Given the description of an element on the screen output the (x, y) to click on. 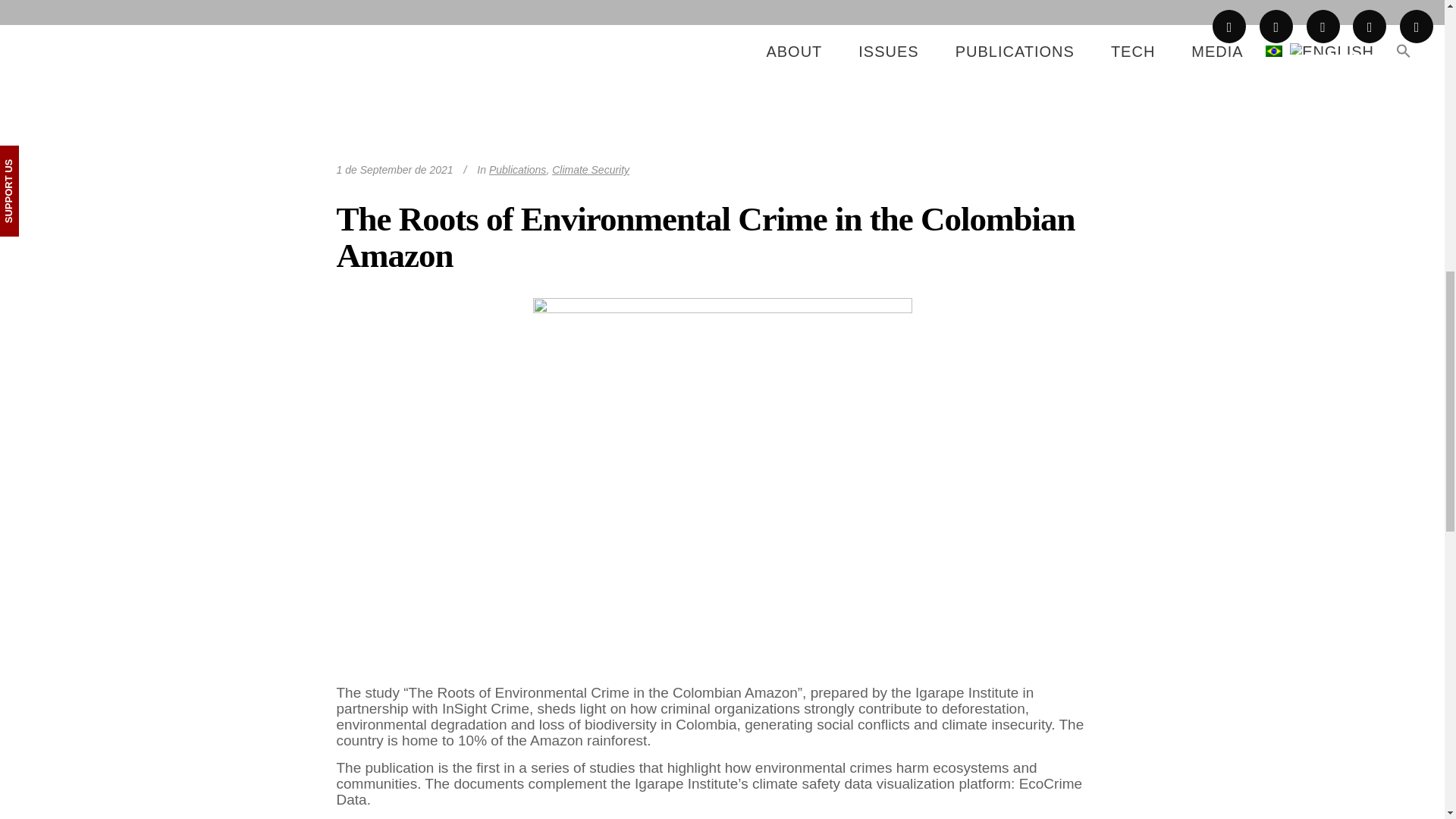
The Roots of Environmental Crime in the Colombian Amazon (721, 68)
